Given the description of an element on the screen output the (x, y) to click on. 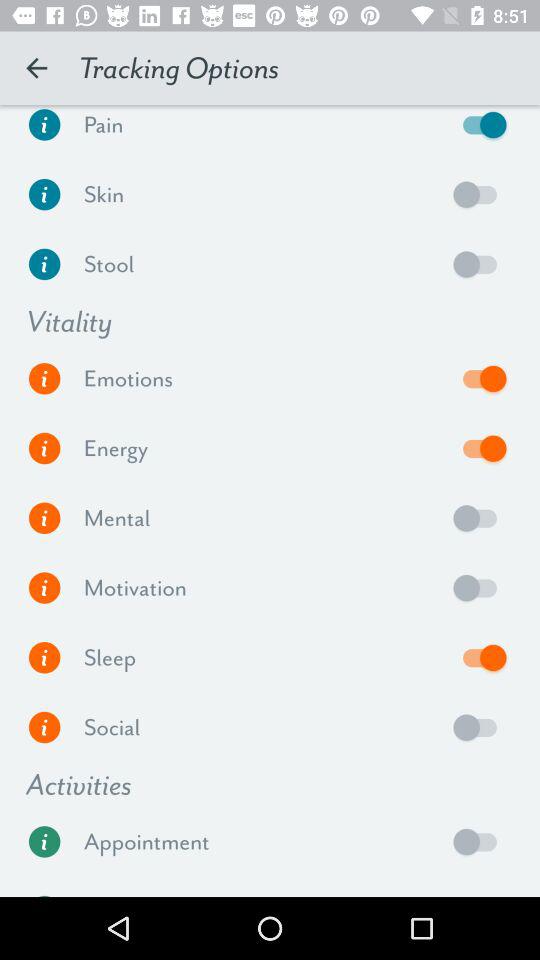
toggle off the energy (479, 448)
